Given the description of an element on the screen output the (x, y) to click on. 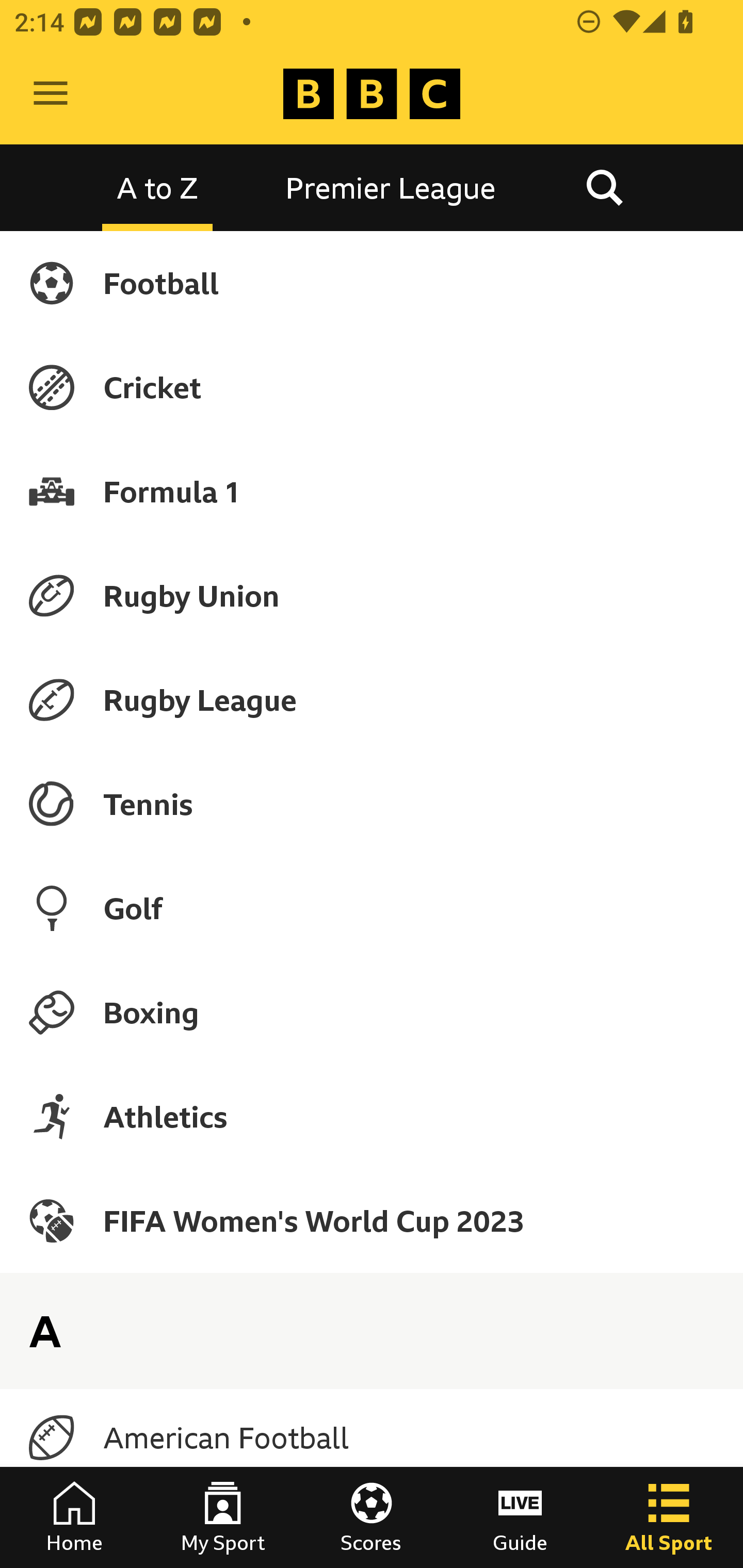
Open Menu (50, 93)
Premier League (390, 187)
Search (604, 187)
Football (371, 282)
Cricket (371, 387)
Formula 1 (371, 491)
Rugby Union (371, 595)
Rugby League (371, 699)
Tennis (371, 804)
Golf (371, 907)
Boxing (371, 1011)
Athletics (371, 1116)
FIFA Women's World Cup 2023 (371, 1220)
American Football (371, 1437)
Home (74, 1517)
My Sport (222, 1517)
Scores (371, 1517)
Guide (519, 1517)
